Given the description of an element on the screen output the (x, y) to click on. 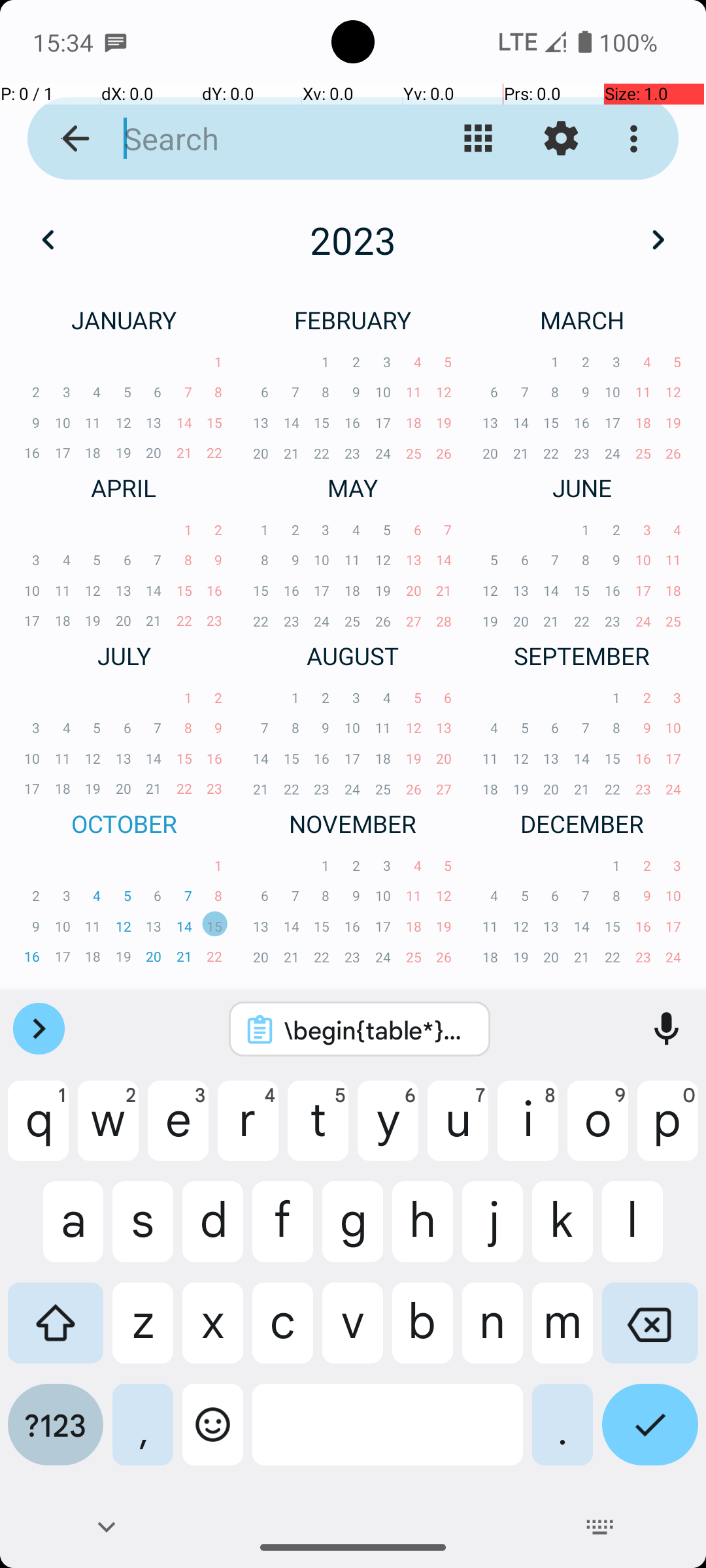
\begin{table*}[t!] \centering \renewcommand\arraystretch{1.1} \tabcolsep=0.05cm {\fontsize{10pt}{12pt}\selectfont \begin{tabular}{cccccccccc} \hline % \toprule          \multirow{2}{*}{LVLMs} & \multirow{2}{*}{\parbox{1.5cm}{\centering Model\\Size}}   & \multirow{2}{*}{\parbox{1.5cm}{\centering GUI\\Specific}} & \multicolumn{2}{c}{Mobile}        & \multicolumn{2}{c}{Desktop}       & \multicolumn{2}{c}{Web}           & \multirow{2}{*}{Average} \\ \cline{4-9}          &    &                               & Text            & Icon/Widget     & Text            & Icon/Widget     & Text            & Icon/Widget     &                          \\  % \midrule \hline MiniGPT-v2     & 7B   & \textcolor{darkred}{\ding{55}}                              &  8.4\%               & 6.6\%                & 6.2\%                & 2.9\%                & 6.5\%                & 3.4\%                & 5.7\%                         \\ Qwen-VL  & 9.6B   & \textcolor{darkred}{\ding{55}}                             & 9.5\%           & 4.8\%           & 5.7\%           & 5.0\%           & 3.5\%           & 2.4\%           & 5.2\%                    \\  GPT-4V   & -    & \textcolor{darkred}{\ding{55}}     & 22.6\%    & 24.5\%    & 20.2\%    & 11.8\%    &9.2\%  & 8.8\%     & 16.2\% \\ \hline Fuyu     & 8B   & \textcolor{darkgreen}{\ding{51}}                               & 41.0\%          & 1.3\%           & 33.0\%          & 3.6\%           & 33.9\%          & 4.4\%           & 19.5\%                   \\ CogAgent & 18B   & \textcolor{darkgreen}{\ding{51}}                               & 67.0\%          & 24.0\%          & \textbf{74.2\%} & 20.0\%          & \textbf{70.4\%} & 28.6\% & 47.4\%                   \\ \seek & 9.6B   & \textcolor{darkgreen}{\ding{51}}                              & \textbf{78.0\%} & \textbf{52.0\%} & 72.2\%          & \textbf{30.0\%} & 55.7\%          & \textbf{32.5\%} & \textbf{53.4\%}          \\  \hline % \bottomrule \end{tabular} } \caption{Results of different LVLMs on \seesp. The best results in each column are highlighted in \textbf{bold}. Benefiting from efficient GUI grounding pre-training, \seek significantly enhanced LVLMs' ability to locate GUI elements following instructions, and surpassed the strong baseline CogAgent with a smaller model size.} \label{tab:screenspot} \vspace{-1.0em} \end{table*} Element type: android.widget.TextView (376, 1029)
